Given the description of an element on the screen output the (x, y) to click on. 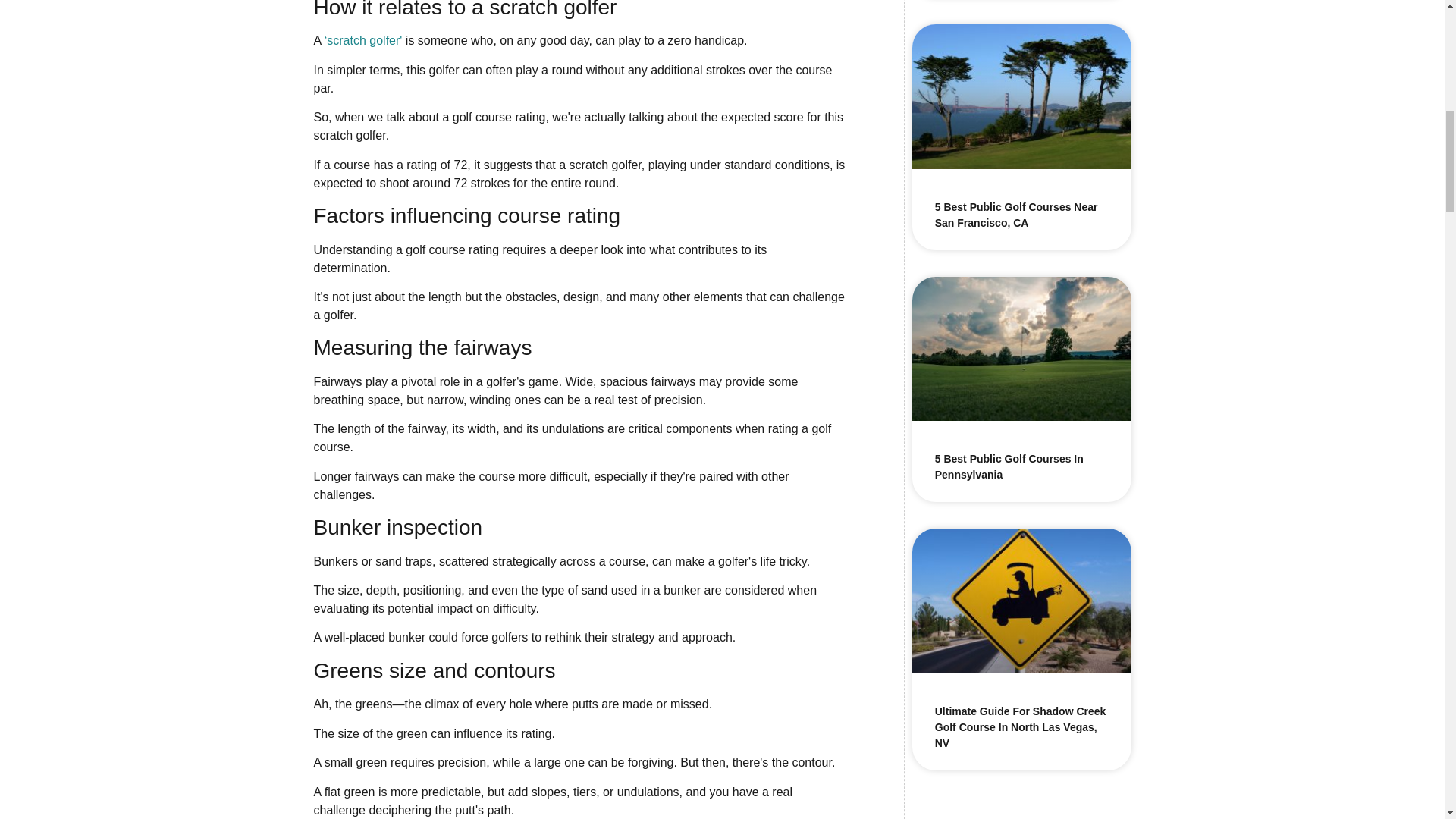
5 Best Public Golf Courses Near San Francisco, CA (1015, 214)
5 Best Public Golf Courses In Pennsylvania (1008, 466)
